Given the description of an element on the screen output the (x, y) to click on. 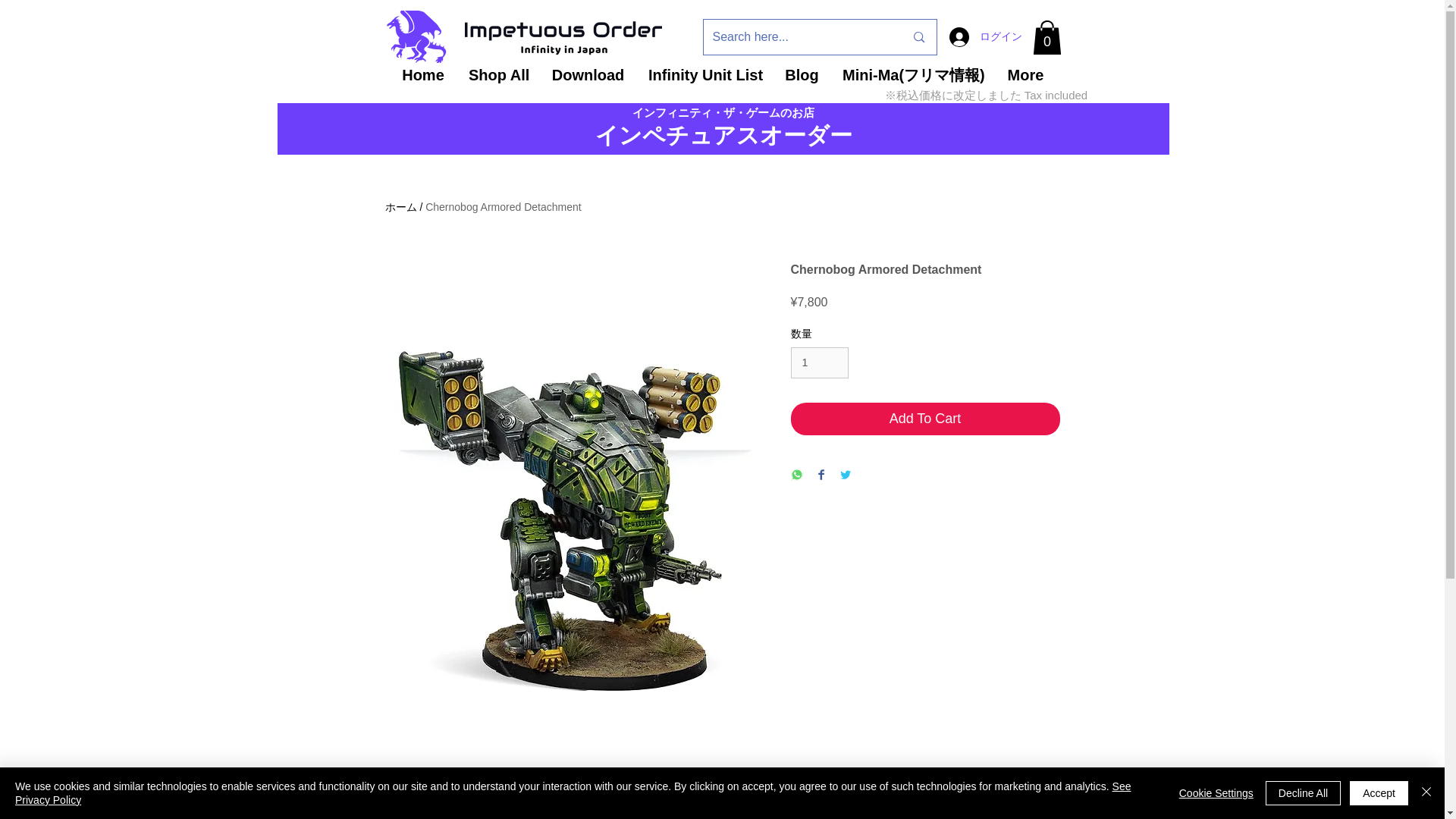
Shop All (497, 74)
1 (818, 362)
Home (422, 74)
